Given the description of an element on the screen output the (x, y) to click on. 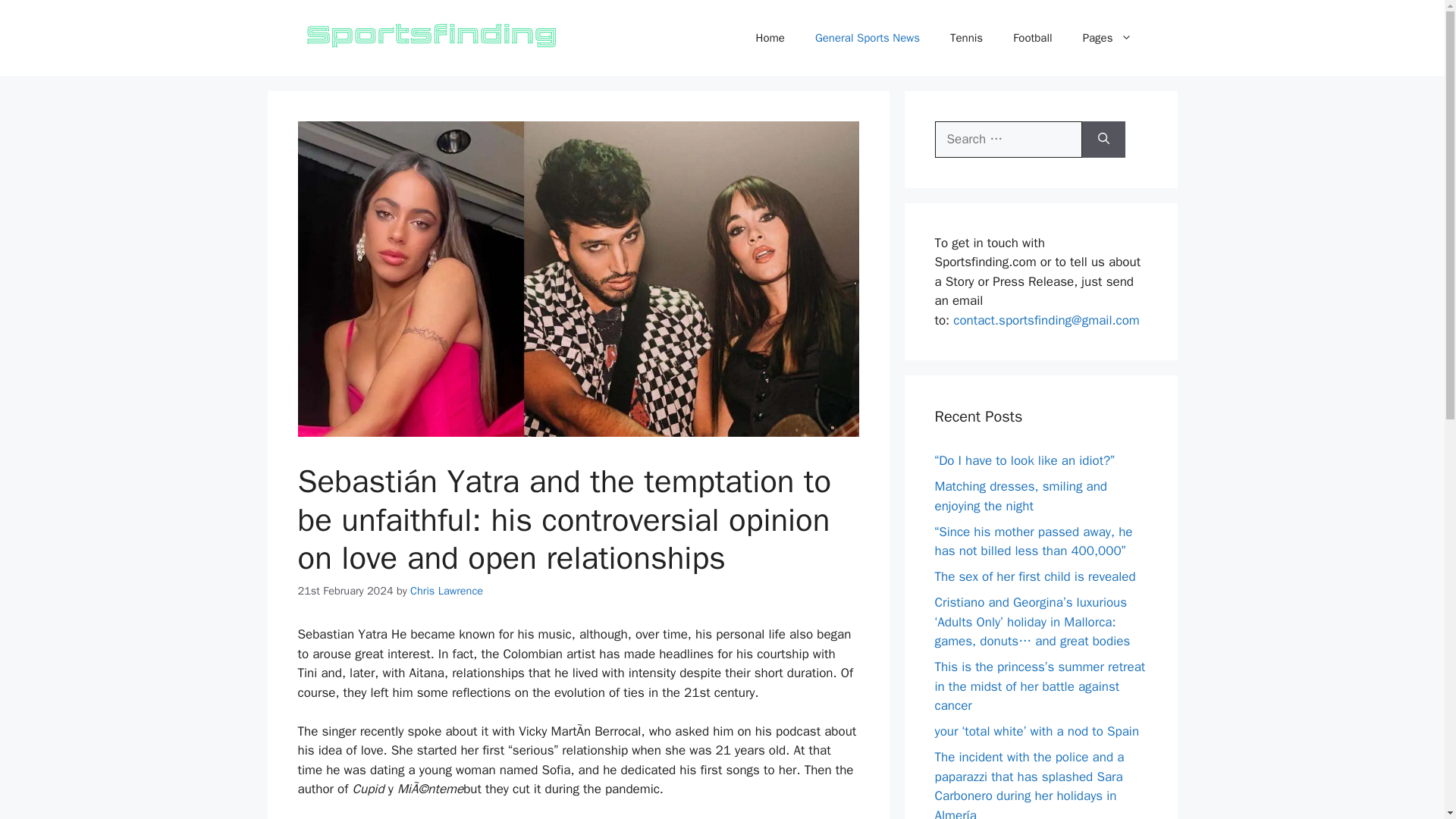
Home (770, 37)
Search for: (1007, 139)
Pages (1107, 37)
Tennis (965, 37)
Matching dresses, smiling and enjoying the night (1020, 496)
Chris Lawrence (446, 590)
General Sports News (866, 37)
View all posts by Chris Lawrence (446, 590)
The sex of her first child is revealed (1034, 576)
Football (1032, 37)
